Given the description of an element on the screen output the (x, y) to click on. 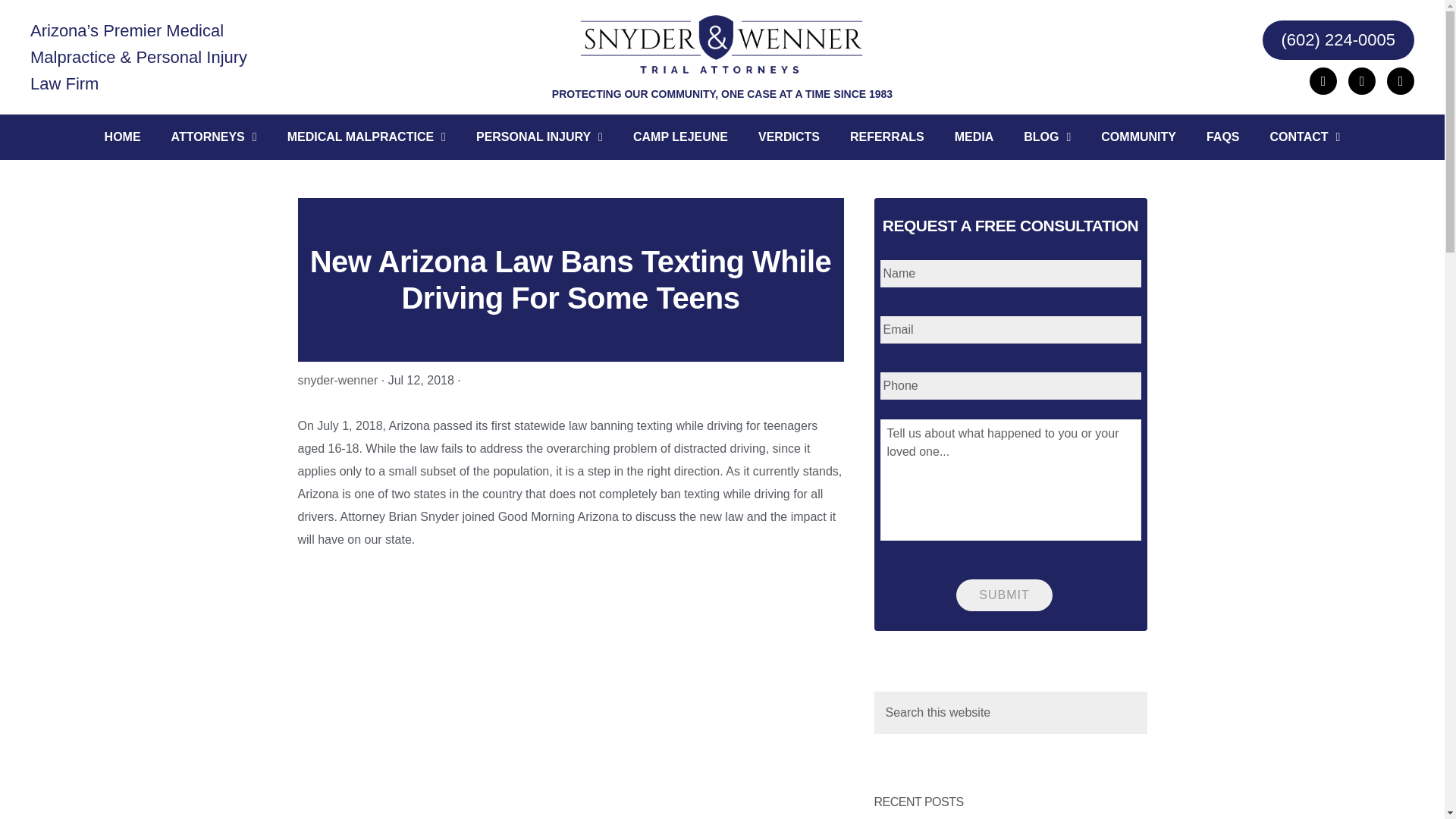
Submit (1003, 594)
